Given the description of an element on the screen output the (x, y) to click on. 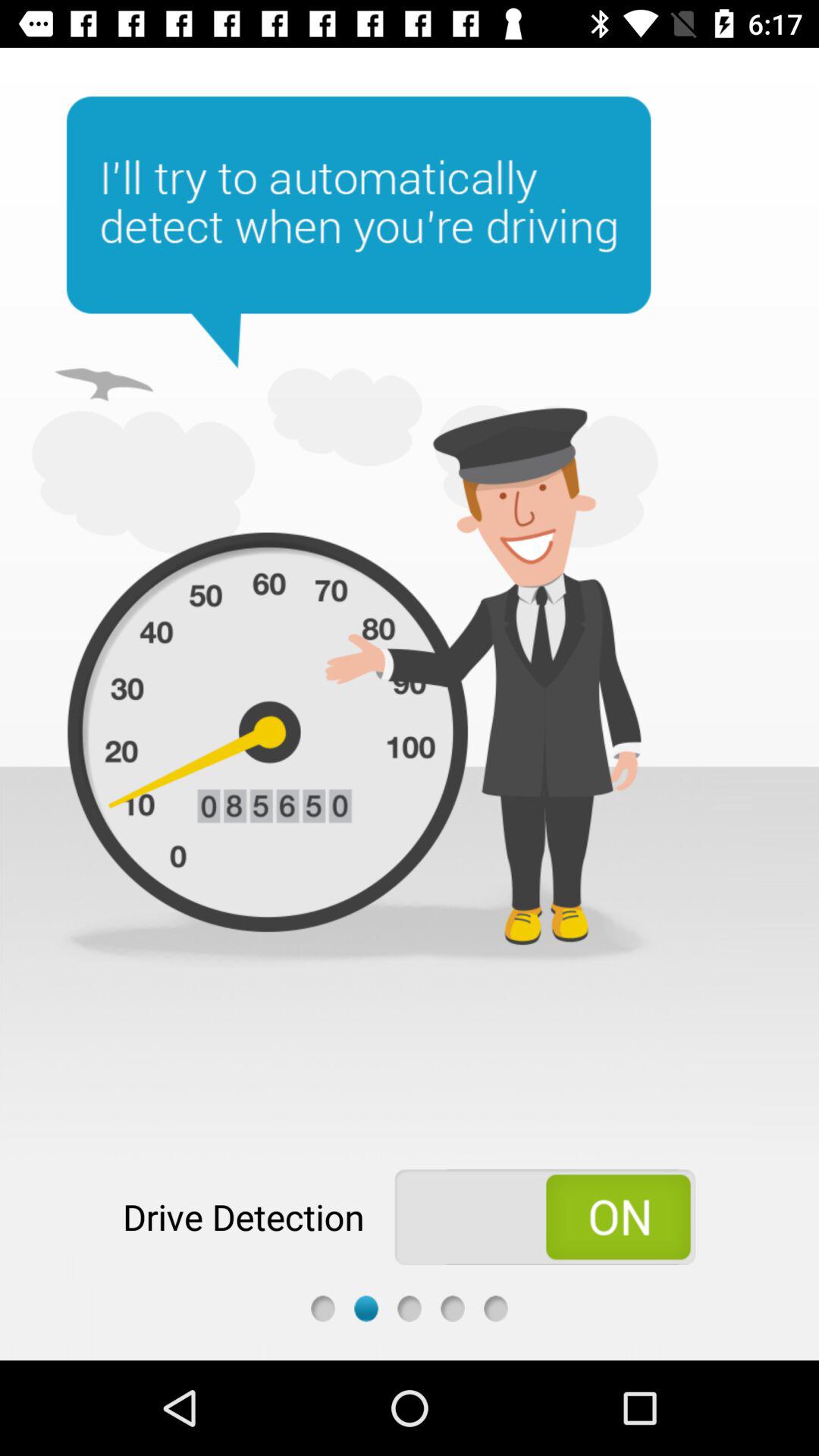
next slide (409, 1308)
